Given the description of an element on the screen output the (x, y) to click on. 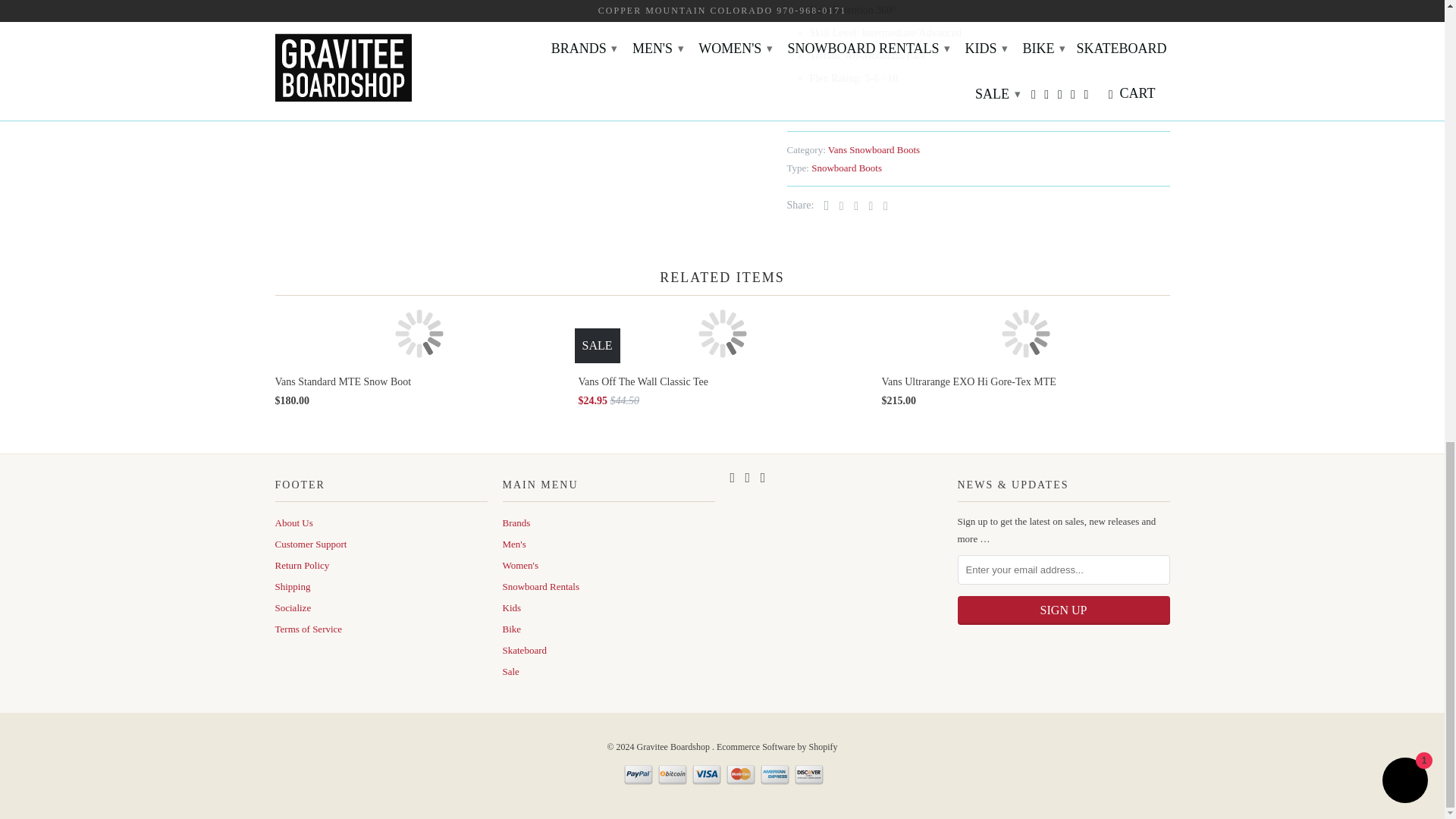
Sign Up (1062, 610)
Snowboard Boots (846, 167)
Products tagged Vans Snowboard Boots (874, 149)
Share this on Pinterest (852, 205)
Share this on Twitter (822, 205)
Email this to a friend (882, 205)
Share this on Facebook (837, 205)
